Given the description of an element on the screen output the (x, y) to click on. 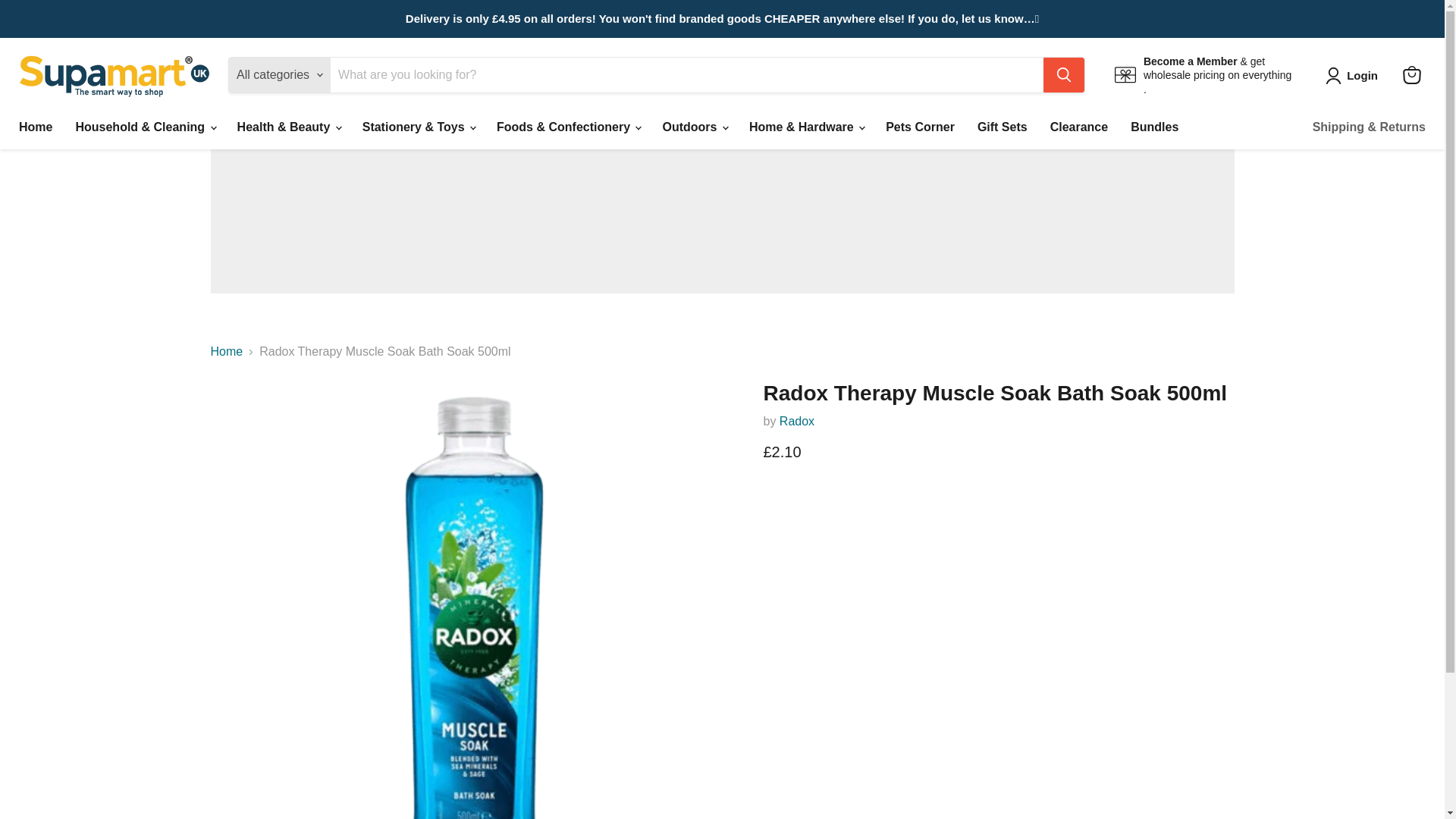
Login (1354, 75)
View cart (1411, 74)
Home (35, 127)
Radox (795, 420)
